Given the description of an element on the screen output the (x, y) to click on. 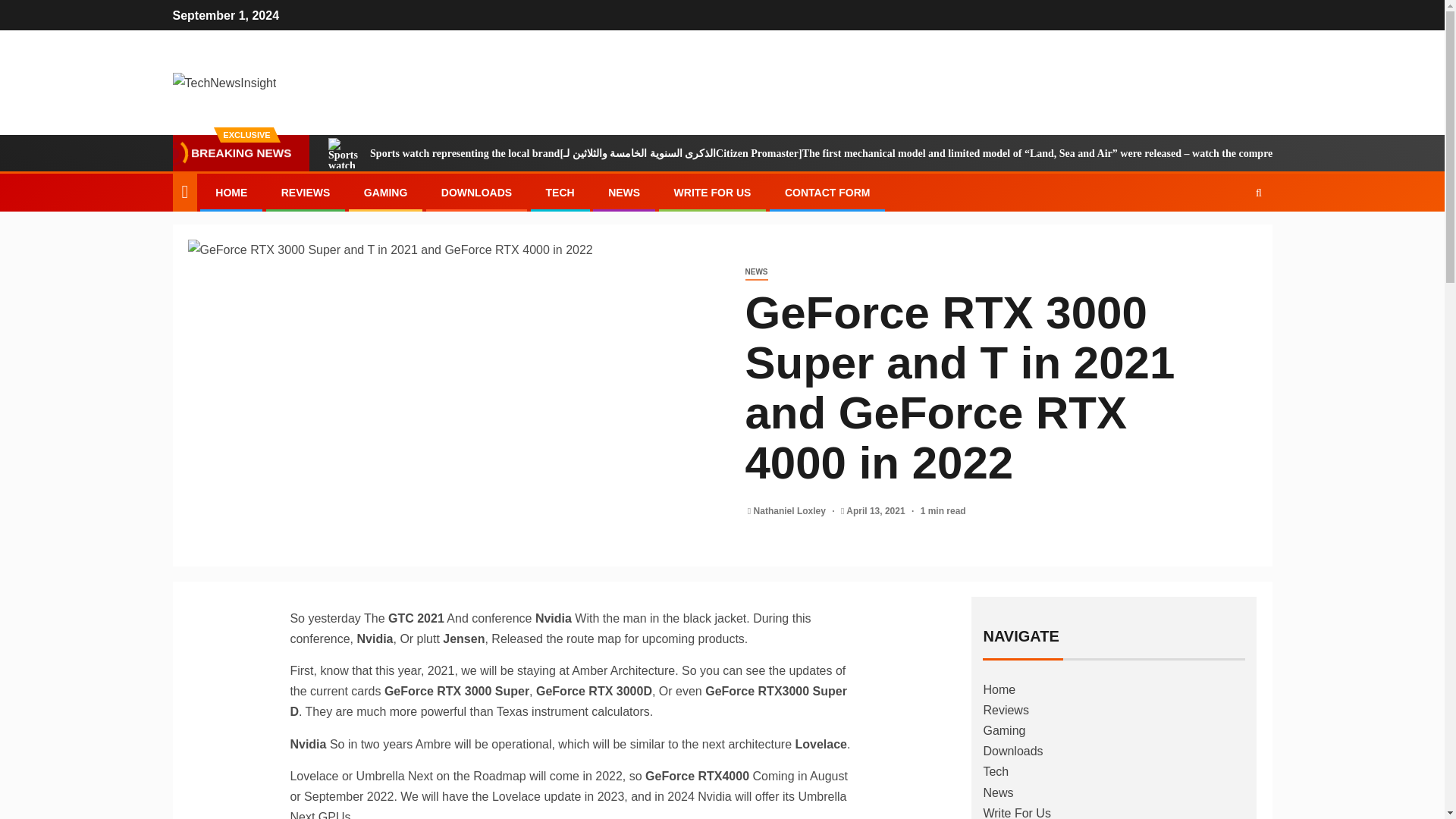
NEWS (755, 272)
DOWNLOADS (476, 192)
GAMING (385, 192)
Search (1229, 238)
HOME (231, 192)
Nathaniel Loxley (791, 511)
WRITE FOR US (712, 192)
NEWS (624, 192)
TECH (560, 192)
